Given the description of an element on the screen output the (x, y) to click on. 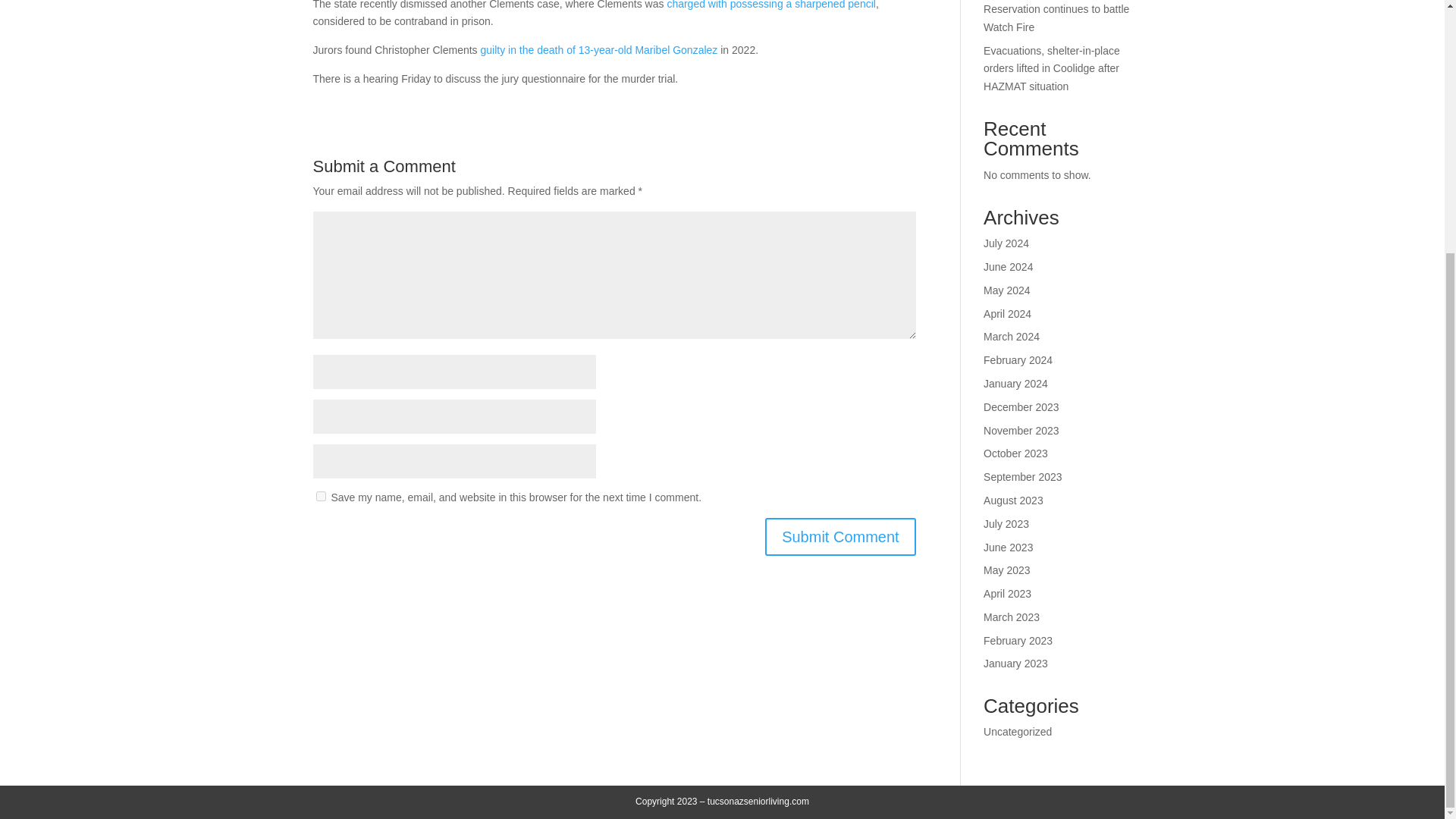
May 2024 (1006, 290)
charged with possessing a sharpened pencil (771, 4)
guilty in the death of 13-year-old Maribel Gonzalez (598, 50)
yes (319, 496)
November 2023 (1021, 430)
Submit Comment (840, 536)
June 2024 (1008, 266)
September 2023 (1023, 476)
March 2024 (1011, 336)
Uncategorized (1017, 731)
January 2024 (1016, 383)
October 2023 (1016, 453)
May 2023 (1006, 570)
February 2023 (1018, 640)
